Given the description of an element on the screen output the (x, y) to click on. 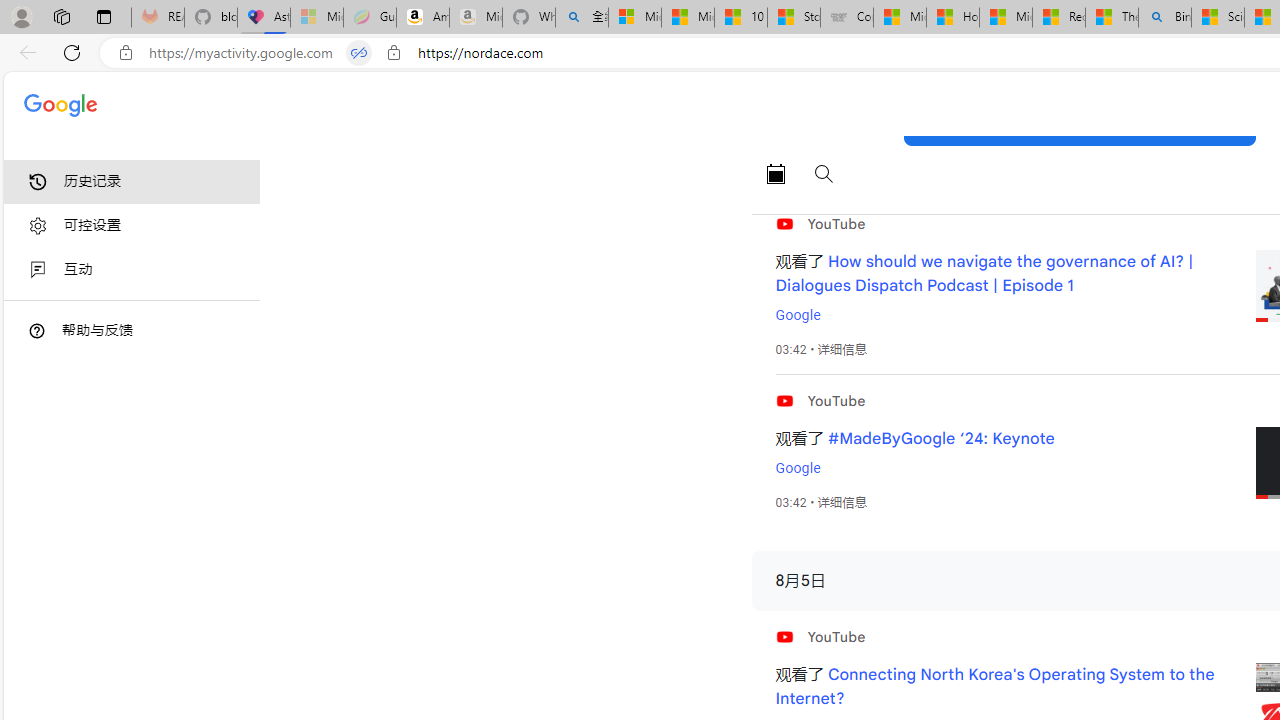
Connecting North Korea's Operating System to the Internet? (994, 687)
